Given the description of an element on the screen output the (x, y) to click on. 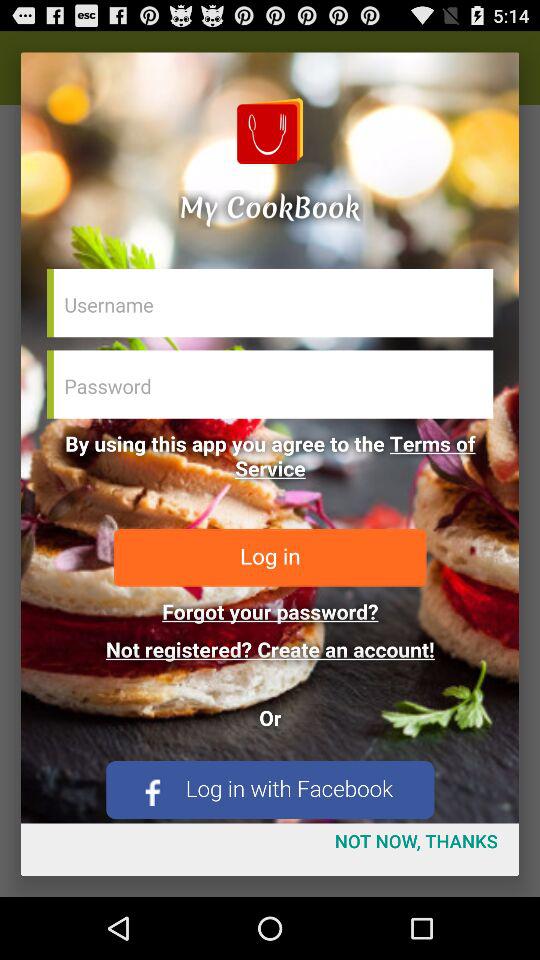
web page (270, 437)
